Given the description of an element on the screen output the (x, y) to click on. 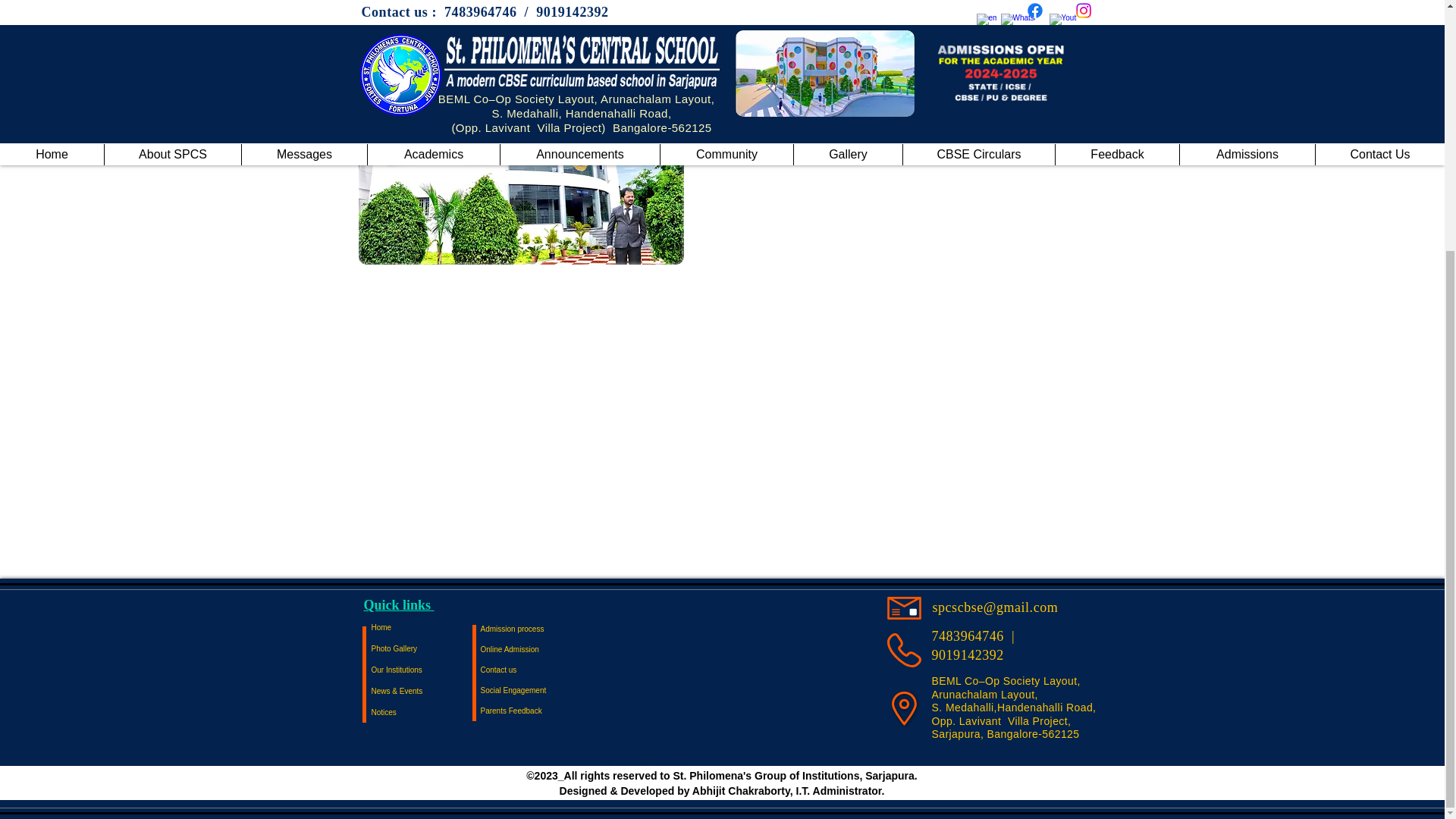
Contact us (534, 670)
Online Admission (534, 649)
Home (425, 627)
Notices (425, 712)
Admission process (534, 629)
Photo Gallery (425, 649)
Our Institutions (425, 670)
